Given the description of an element on the screen output the (x, y) to click on. 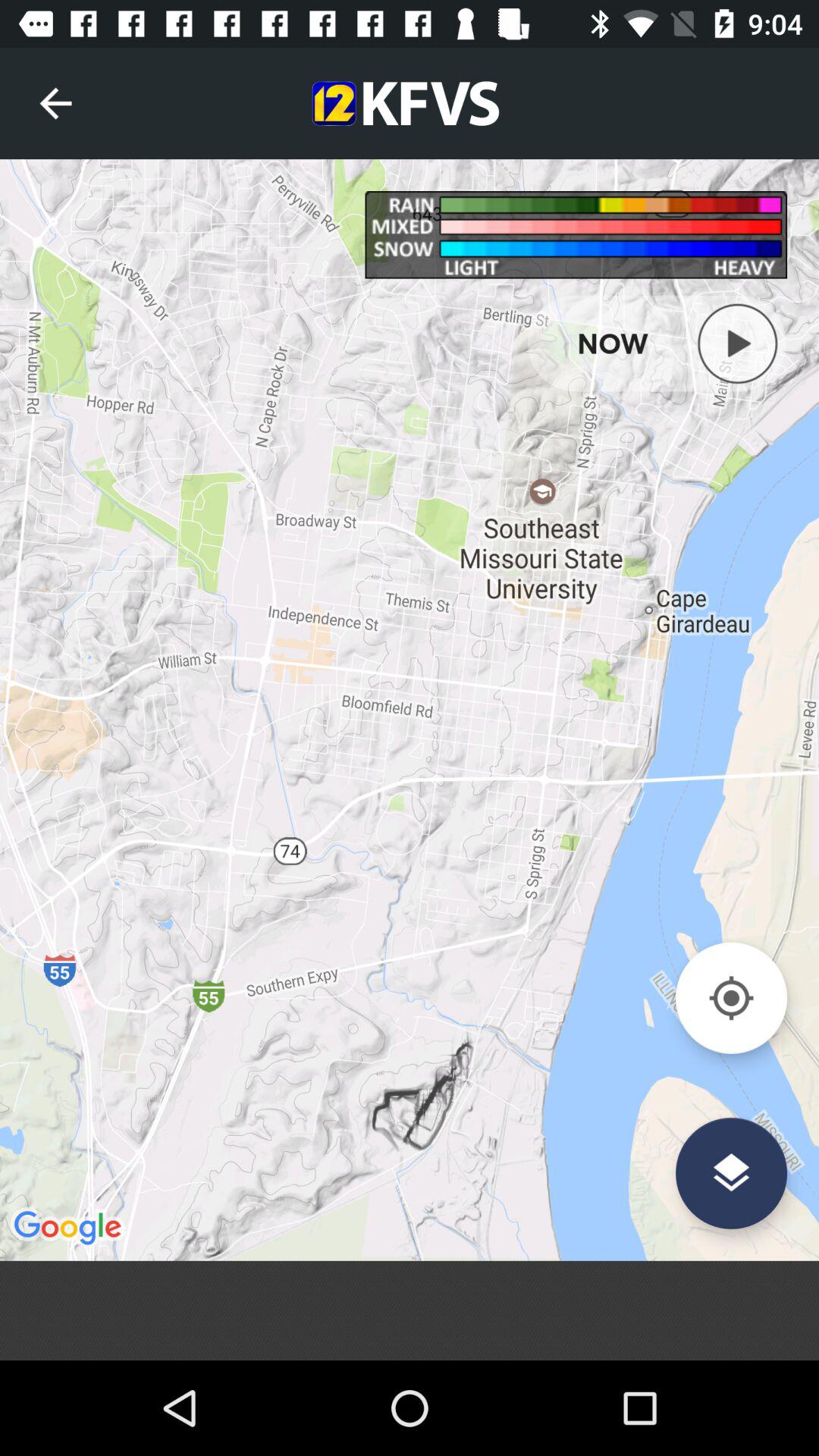
map layers (731, 1173)
